Given the description of an element on the screen output the (x, y) to click on. 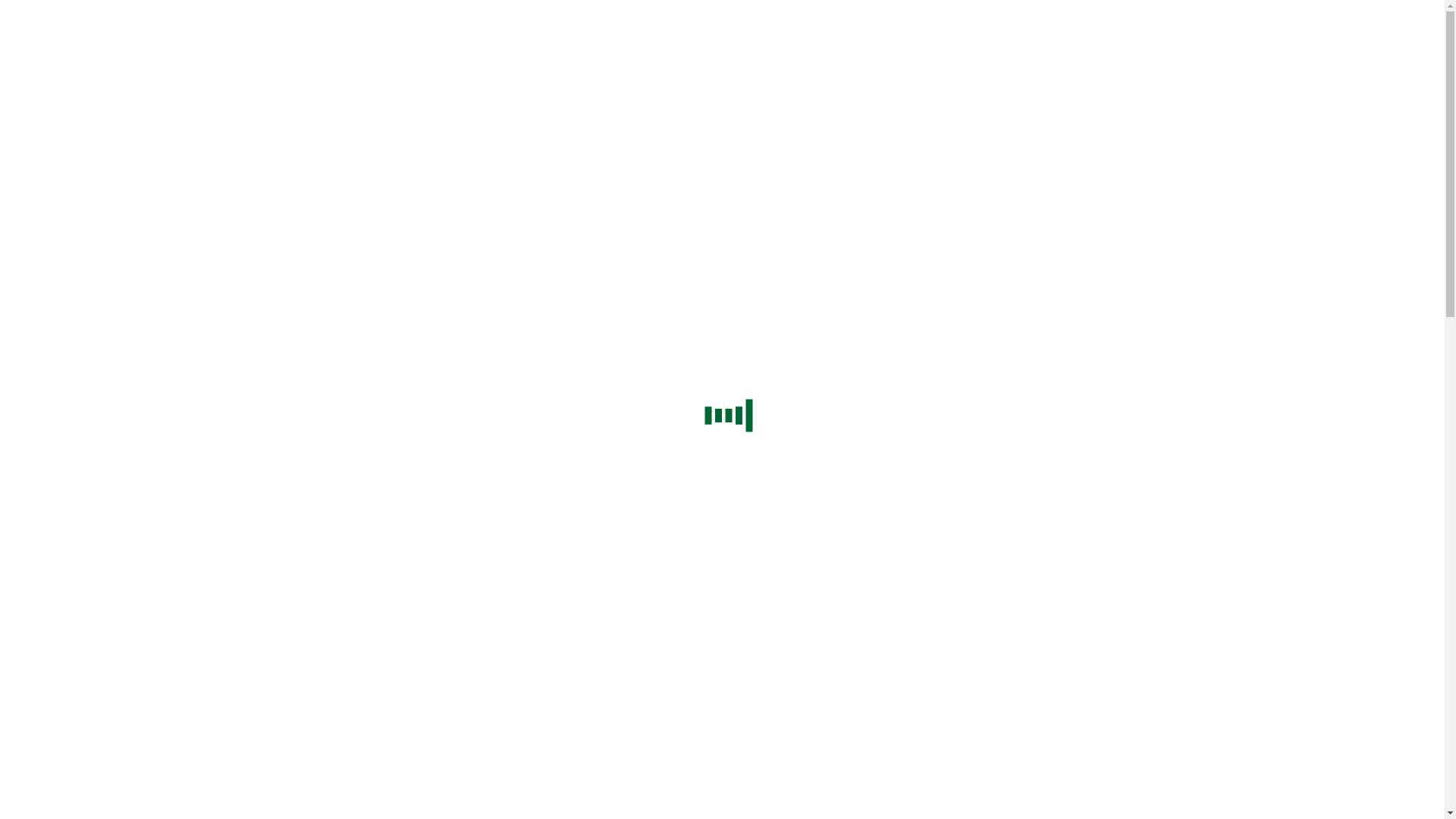
+375 29 101 35 36 Element type: text (145, 533)
+375 29 876 35 36 Element type: text (237, 533)
+375 29 101 35 36 Element type: text (145, 227)
+375 29 876 35 36 Element type: text (237, 597)
+375 17 388-44-22 Element type: text (53, 597)
+375 17 388-44-22 Element type: text (53, 227)
+375 17 388-44-22 Element type: text (53, 533)
+375 29 876 35 36 Element type: text (237, 227)
+375 29 101 35 36 Element type: text (145, 597)
